Given the description of an element on the screen output the (x, y) to click on. 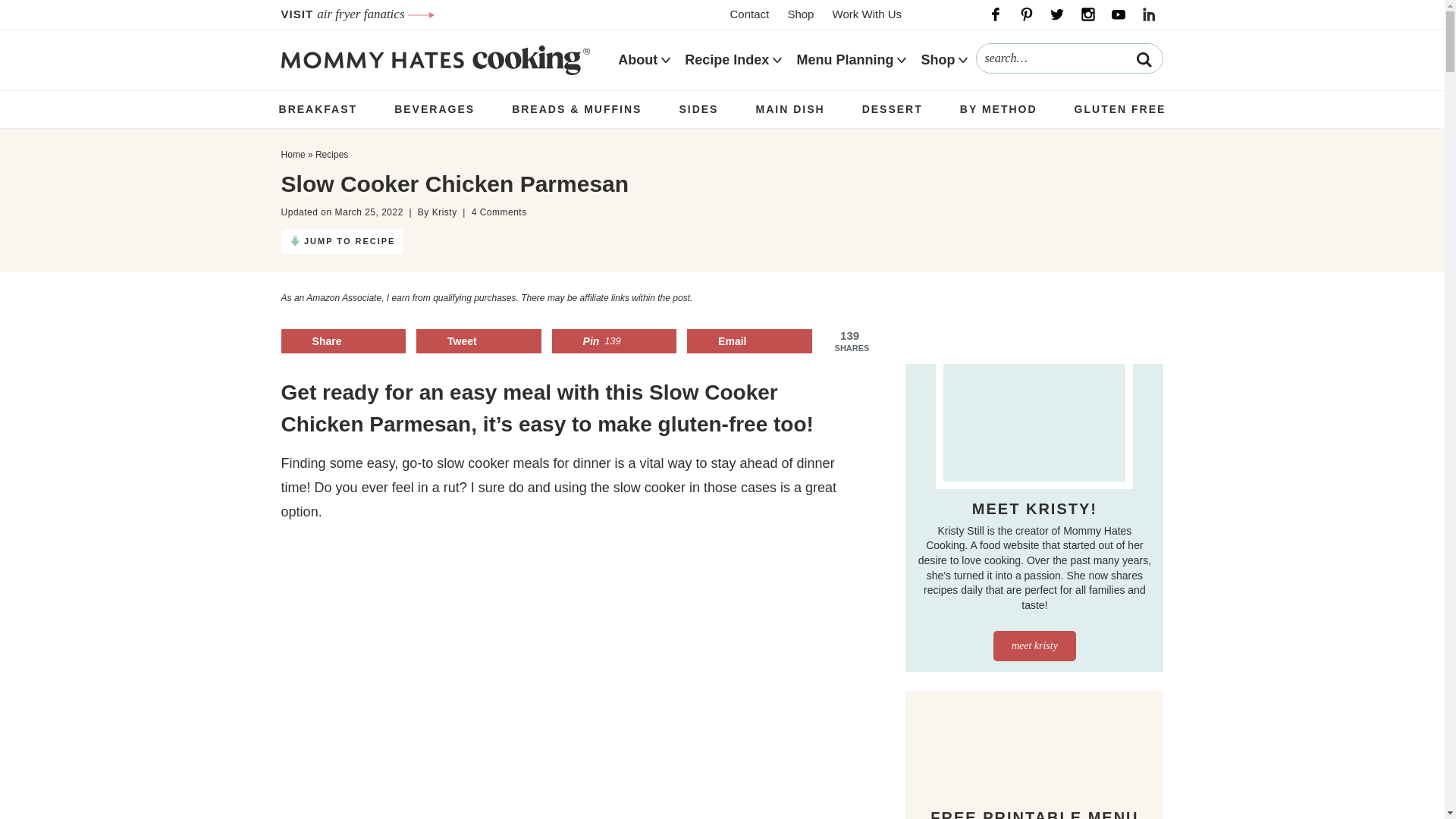
air fryer fanatics (375, 13)
About (637, 59)
Share on Facebook (343, 340)
Work With Us (866, 13)
Contact (749, 13)
Search for (1068, 58)
JUMP TO RECIPE (342, 241)
Recipe Index (727, 59)
Send over email (749, 340)
MOMMY HATES COOKING (435, 59)
Save to Pinterest (614, 340)
Shop (799, 13)
Share on X (478, 340)
